Given the description of an element on the screen output the (x, y) to click on. 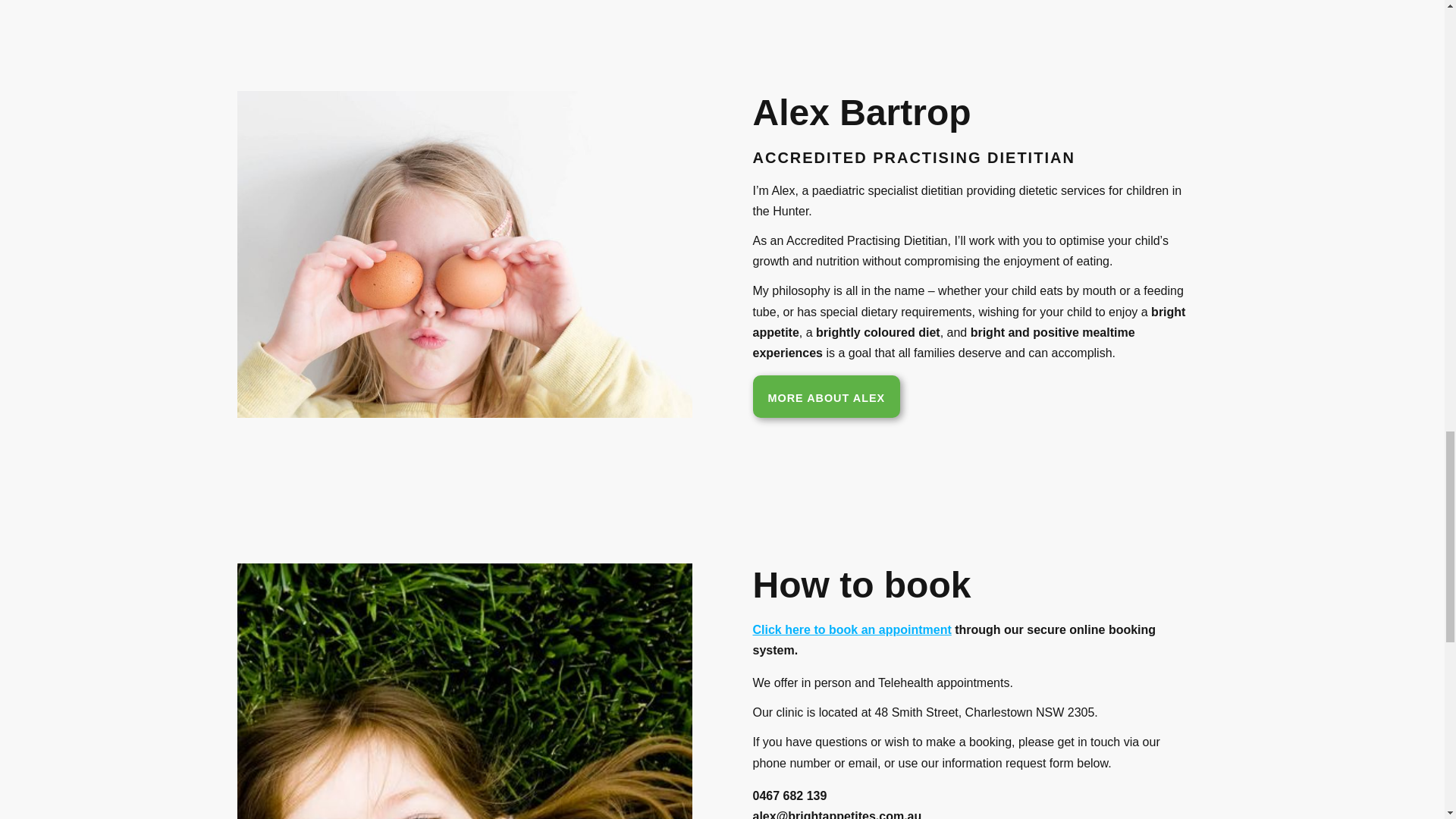
Click here to book an appointment (851, 629)
MORE ABOUT ALEX (825, 396)
